Given the description of an element on the screen output the (x, y) to click on. 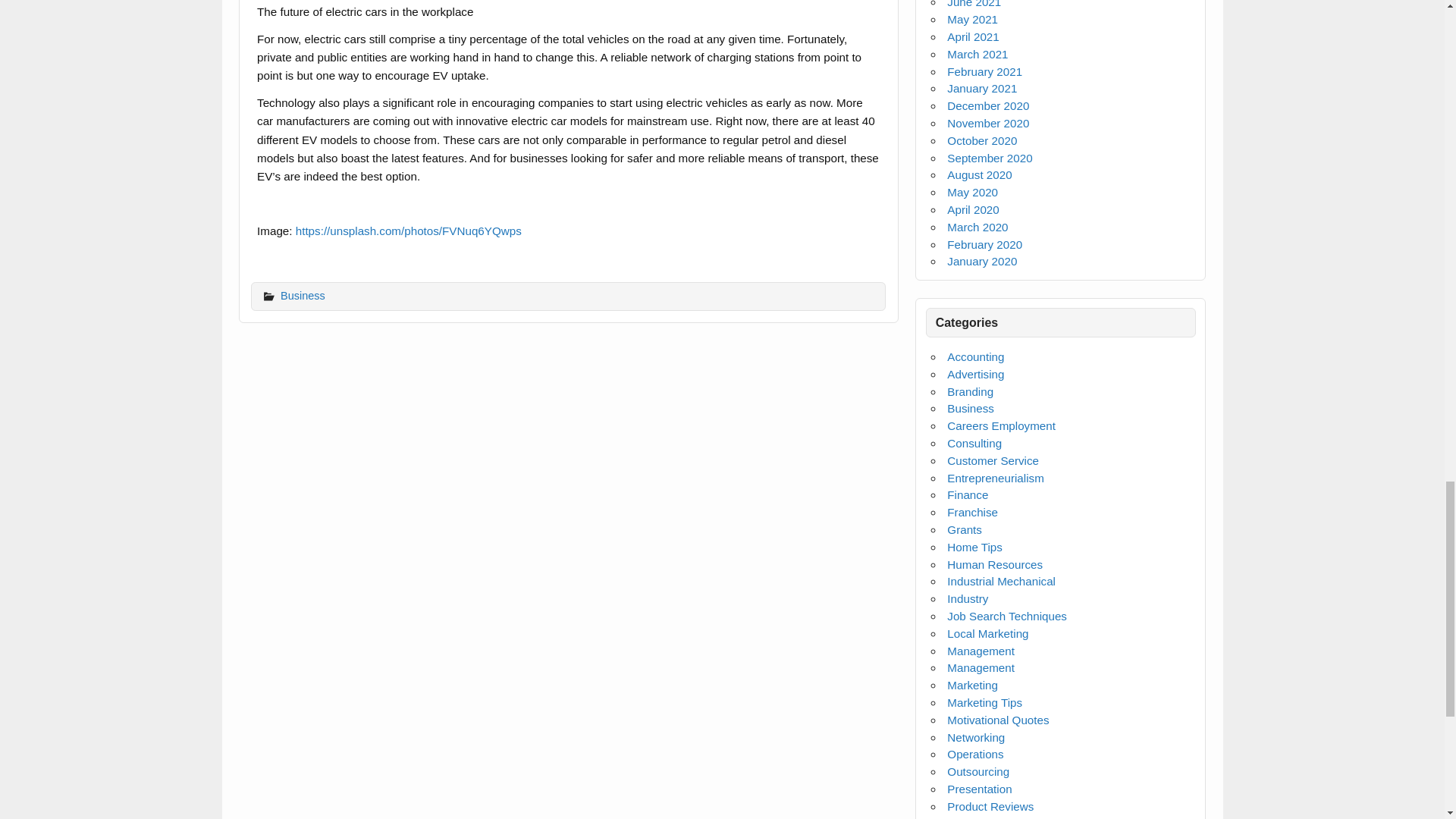
Business (302, 295)
